Given the description of an element on the screen output the (x, y) to click on. 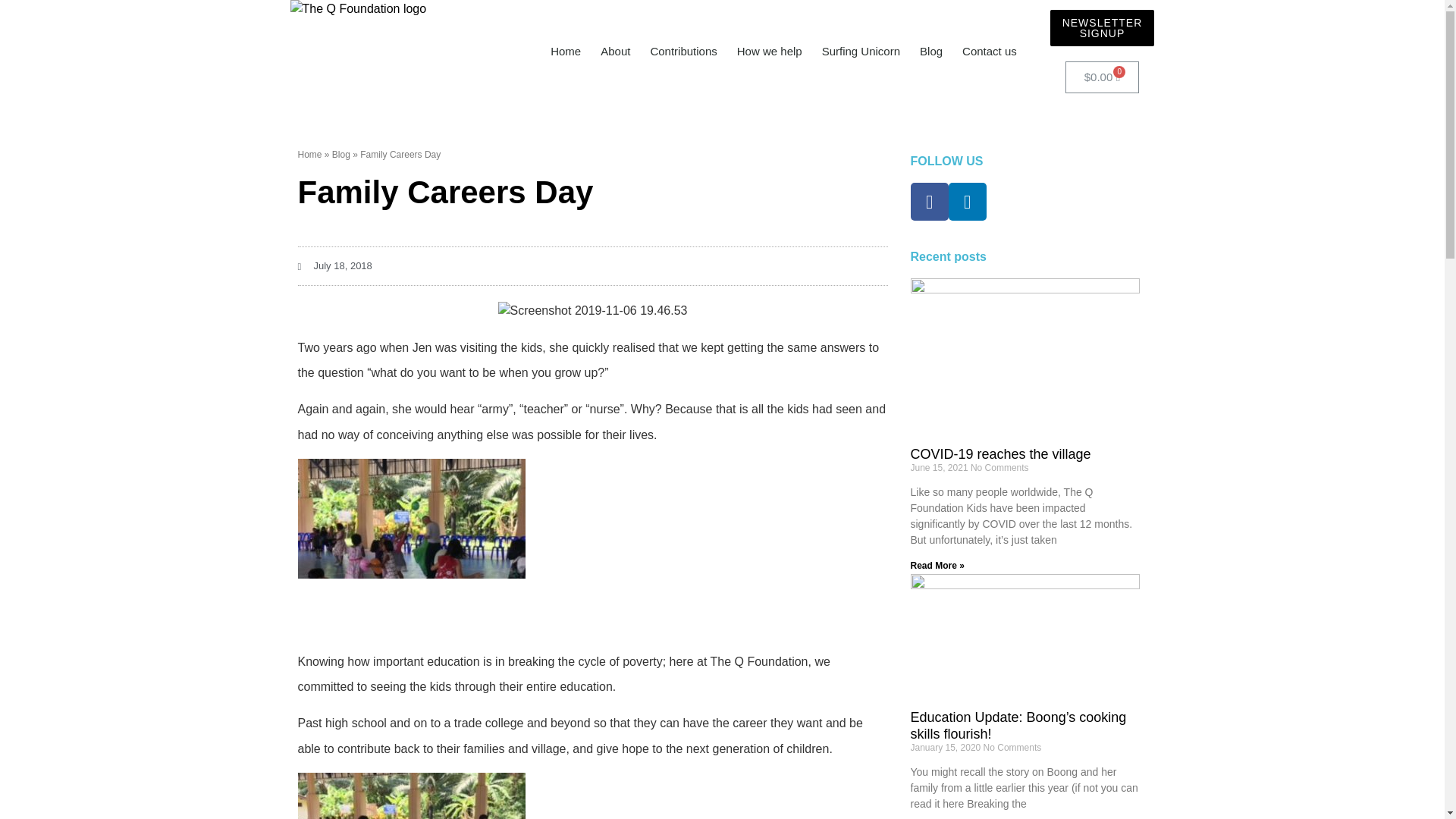
Contact us (989, 51)
Home (309, 154)
How we help (769, 51)
Blog (340, 154)
Contributions (683, 51)
Screenshot 2019-11-06 19.46.53 (592, 311)
Surfing Unicorn (861, 51)
NEWSLETTER SIGNUP (1101, 27)
July 18, 2018 (334, 265)
